Given the description of an element on the screen output the (x, y) to click on. 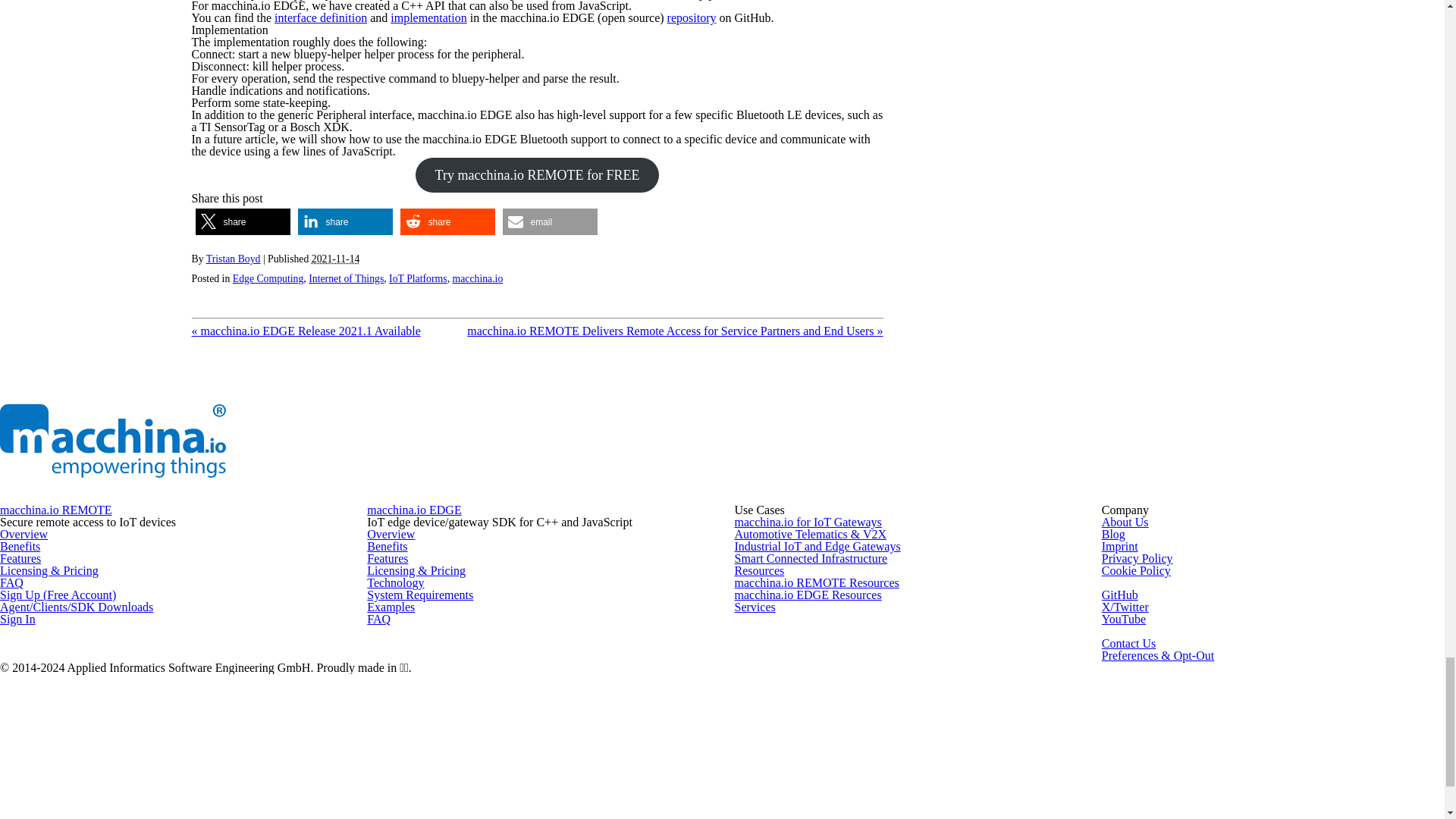
View all posts by Tristan Boyd (233, 258)
Try macchina.io REMOTE for FREE (536, 175)
Send by email (549, 221)
share  (344, 221)
Internet of Things (346, 278)
Share on LinkedIn (344, 221)
Share on X (242, 221)
interface definition (320, 17)
implementation (427, 17)
Share on Reddit (447, 221)
